Given the description of an element on the screen output the (x, y) to click on. 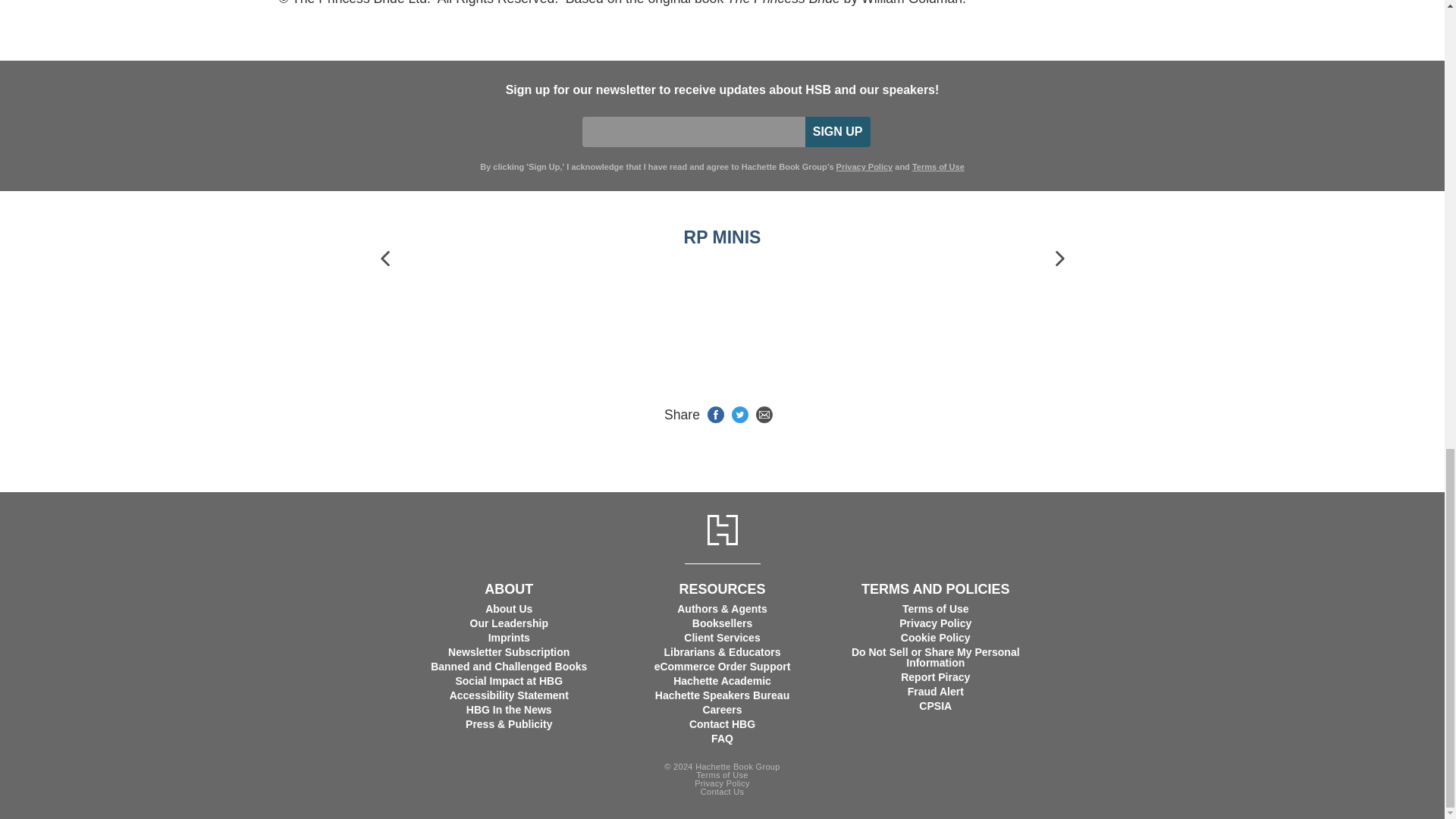
Arrow Icon (1058, 258)
Arrow Icon (384, 258)
Hachette Logo Large H Initial (721, 530)
